Given the description of an element on the screen output the (x, y) to click on. 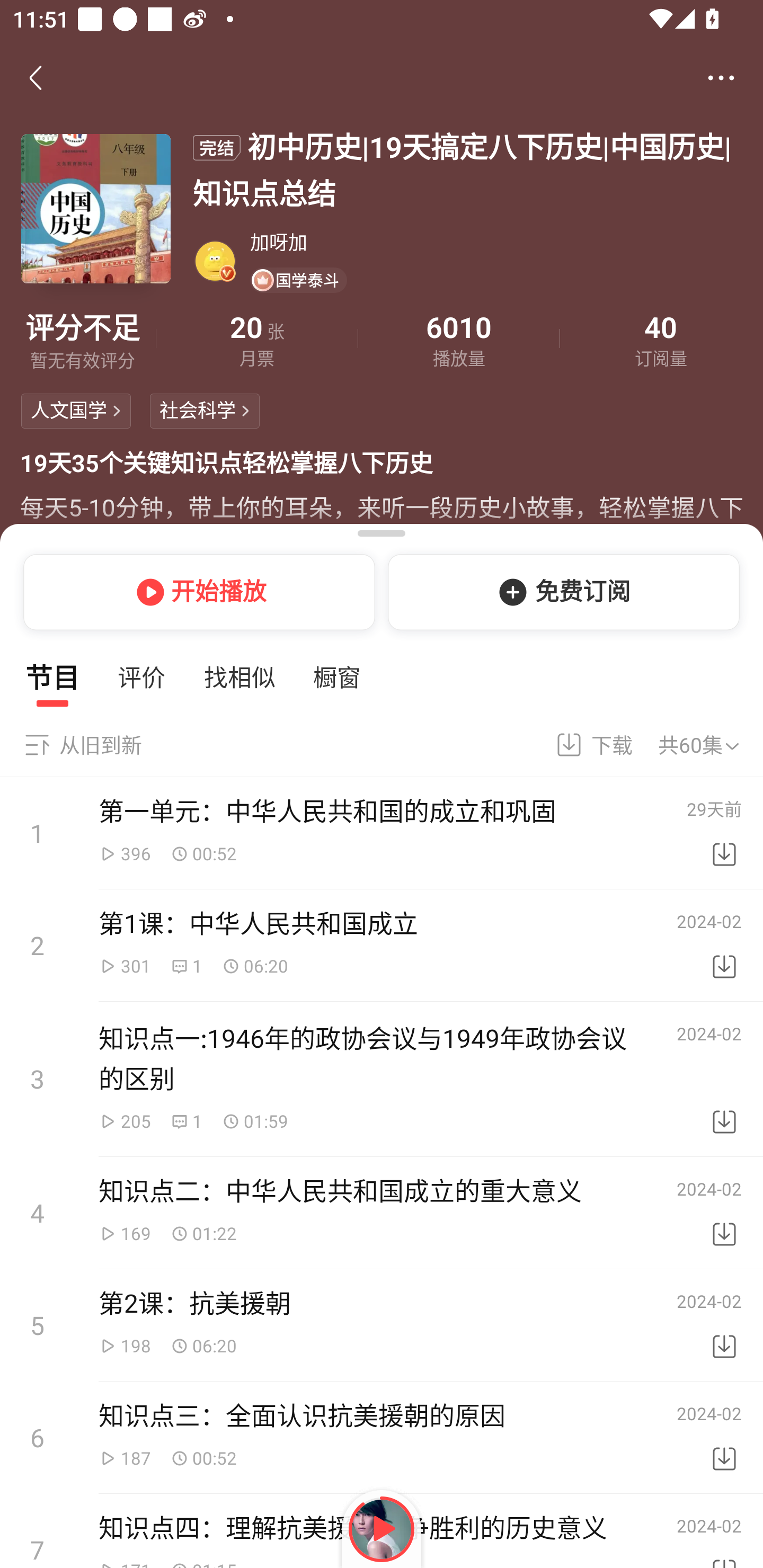
返回 (39, 77)
更多 (721, 77)
  初中历史|19天搞定八下历史|中国历史|知识点总结 (467, 168)
专辑封面 (95, 208)
加呀加 (495, 241)
加呀加 (215, 260)
评分不足
暂无有效评分 暂无评分 (82, 339)
人文国学 (76, 410)
社会科学 (204, 410)
19天35个关键知识点轻松掌握八下历史 (381, 464)
开始播放 (195, 591)
免费订阅 (566, 591)
节目 (52, 677)
评价 (141, 677)
找相似 (238, 677)
橱窗 (336, 677)
从旧到新 排序，从旧到新 (81, 744)
下载 (582, 744)
共60集 选集，共60集 (710, 744)
1 第一单元：中华人民共和国的成立和巩固 29天前 396 00:52 下载 (381, 833)
下载 (724, 831)
2 第1课：中华人民共和国成立 2024-02 301 1 06:20 下载 (381, 945)
下载 (724, 943)
下载 (724, 1077)
4 知识点二：中华人民共和国成立的重大意义 2024-02 169 01:22 下载 (381, 1212)
下载 (724, 1210)
5 第2课：抗美援朝 2024-02 198 06:20 下载 (381, 1324)
下载 (724, 1323)
6 知识点三：全面认识抗美援朝的原因 2024-02 187 00:52 下载 (381, 1437)
下载 (724, 1435)
7 知识点四：理解抗美援朝战争胜利的历史意义 2024-02 171 01:15 下载 (381, 1531)
继续播放Alpha-橘子海OrangeOcean (381, 1529)
